Given the description of an element on the screen output the (x, y) to click on. 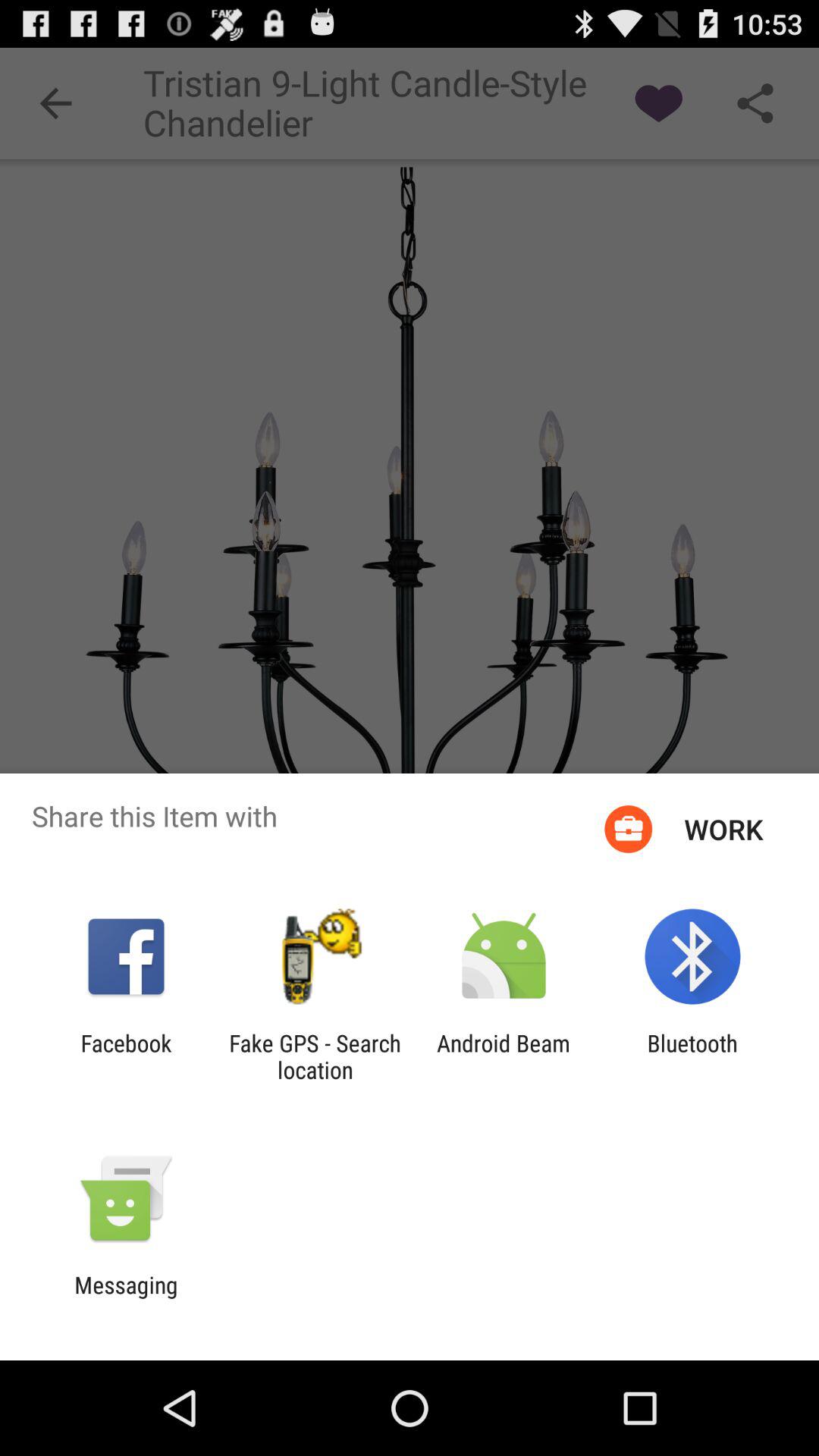
turn off the facebook app (125, 1056)
